Given the description of an element on the screen output the (x, y) to click on. 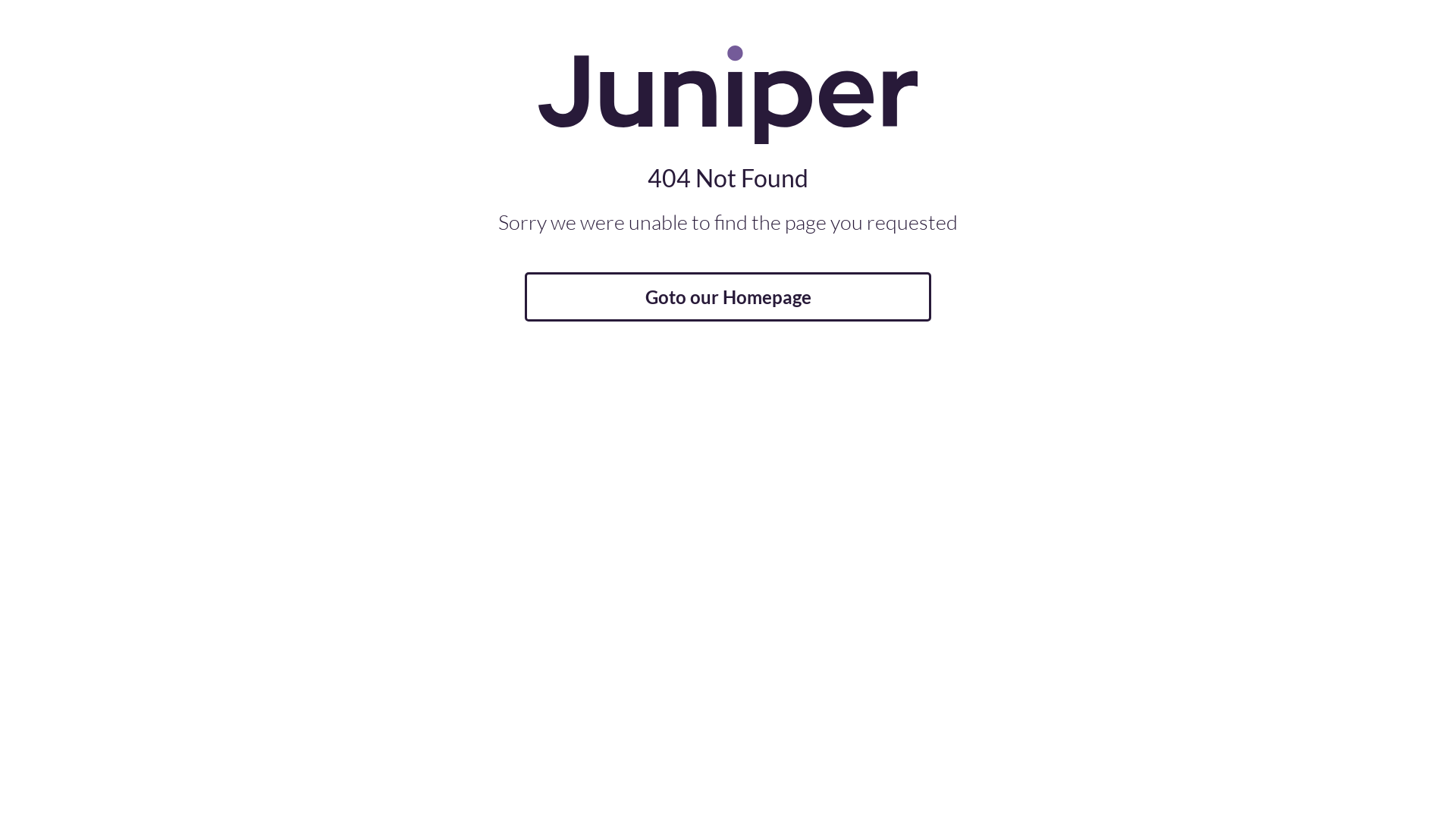
Goto our Homepage Element type: text (727, 296)
